Given the description of an element on the screen output the (x, y) to click on. 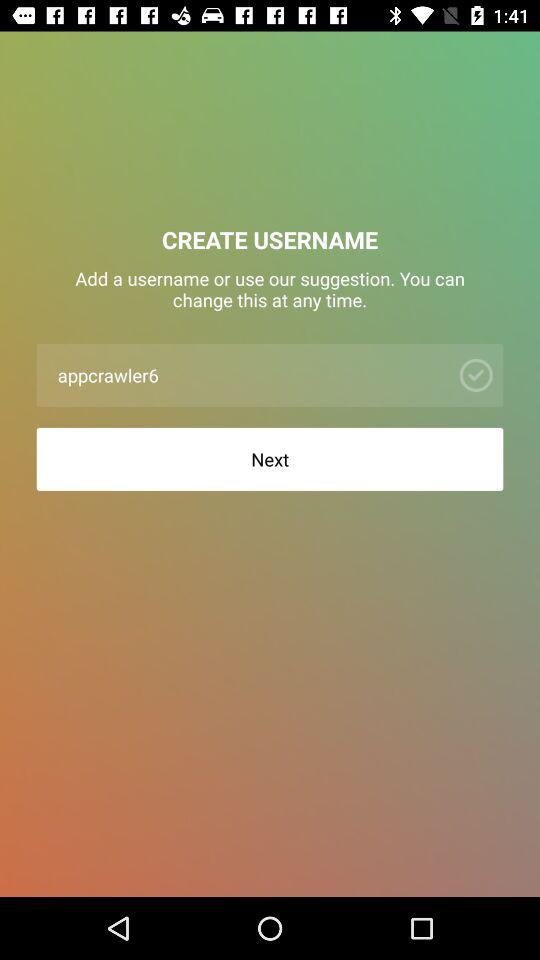
flip until appcrawler6 item (247, 374)
